Given the description of an element on the screen output the (x, y) to click on. 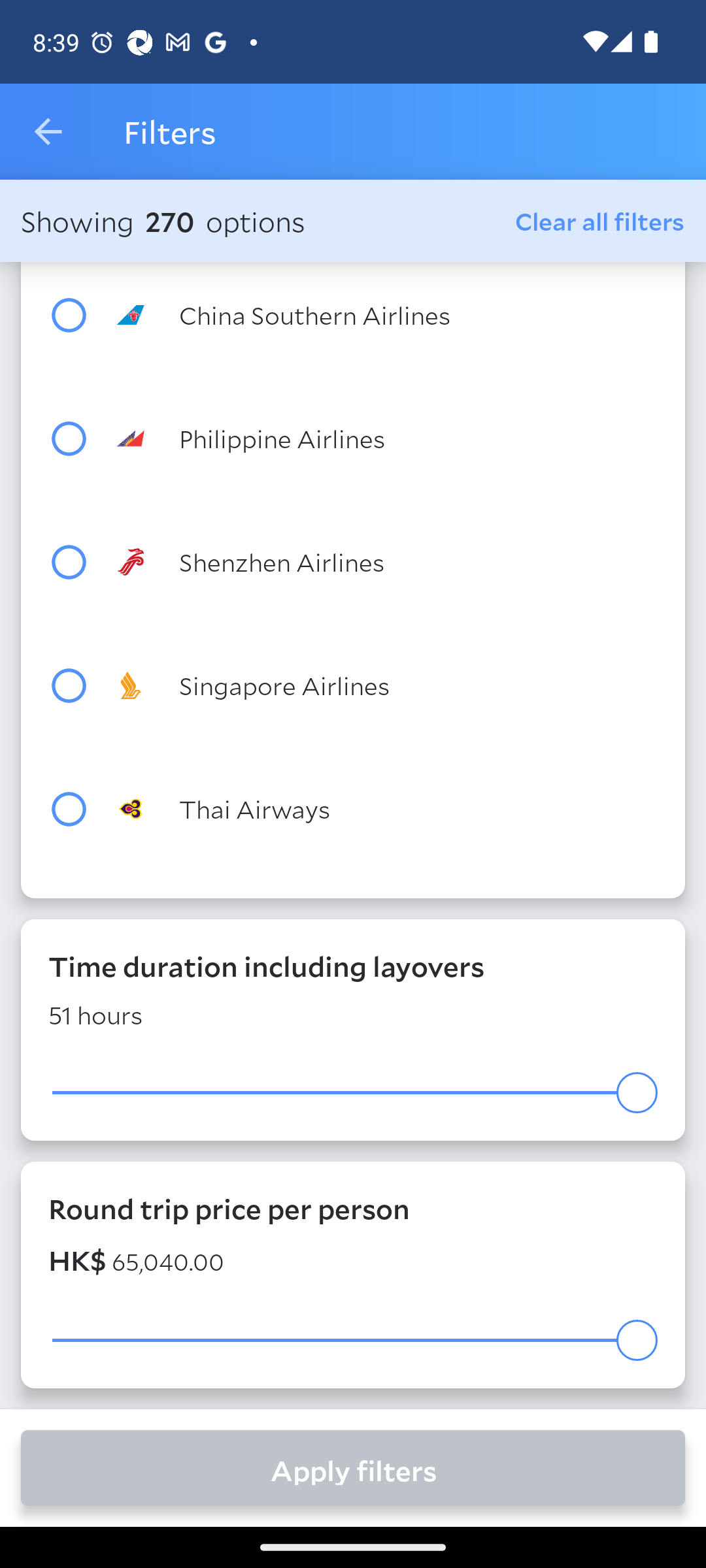
Navigate up (48, 131)
Clear all filters (599, 219)
China Southern Airlines (387, 313)
Philippine Airlines (387, 437)
Shenzhen Airlines (387, 561)
Singapore Airlines (387, 685)
Thai Airways (387, 807)
Apply filters (352, 1467)
